Given the description of an element on the screen output the (x, y) to click on. 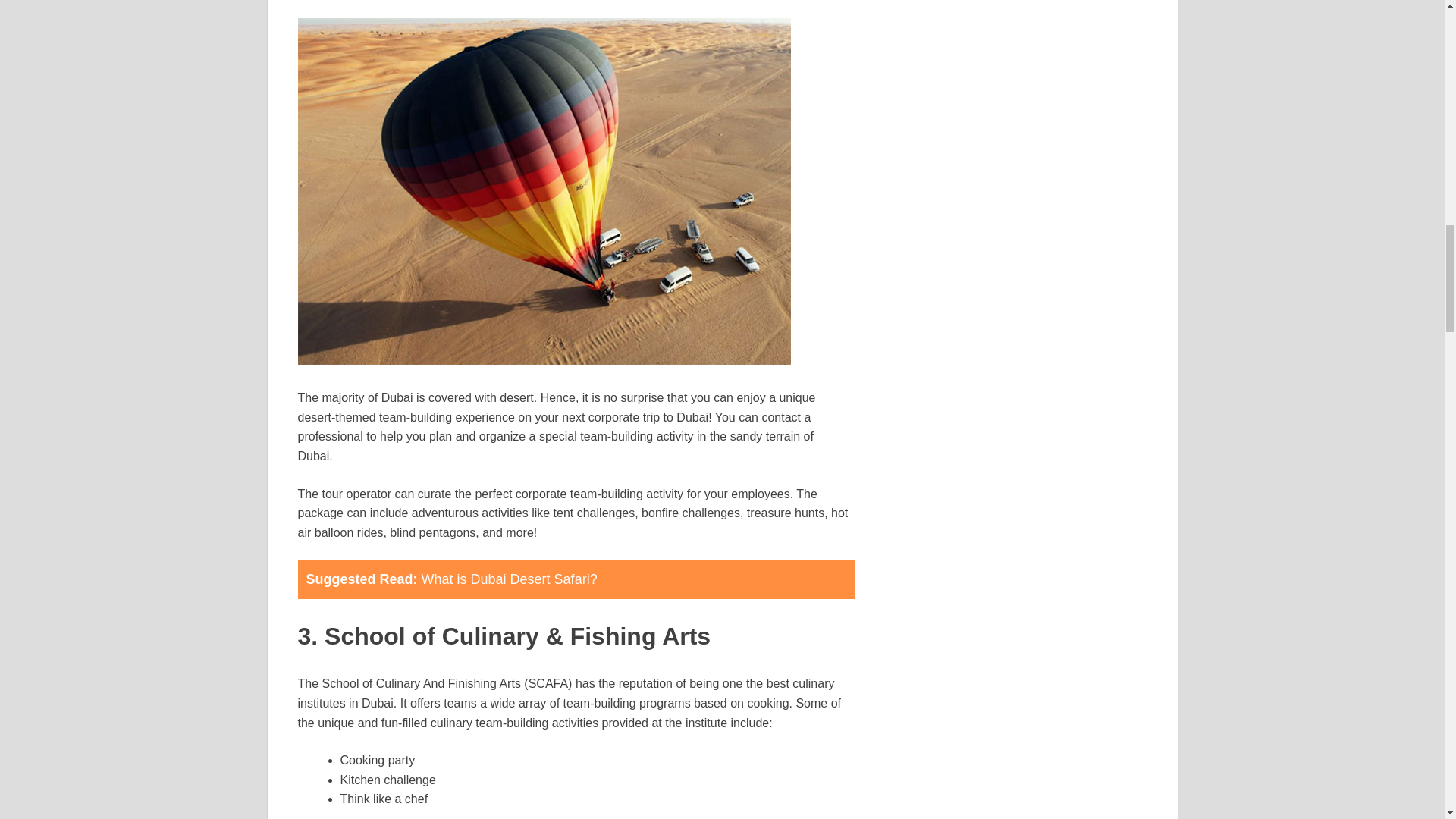
What is Dubai Desert Safari? (509, 579)
